Given the description of an element on the screen output the (x, y) to click on. 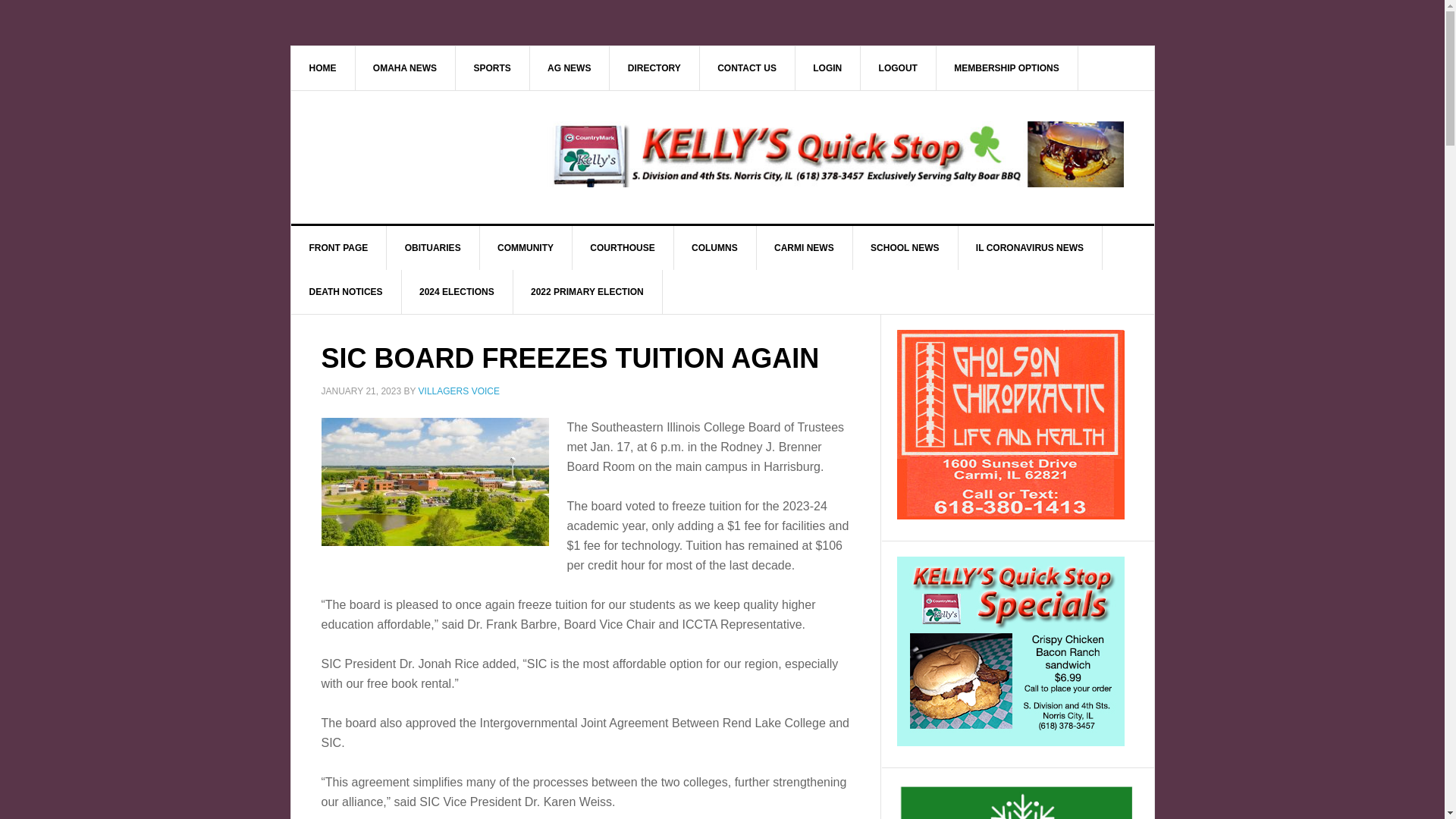
HOME (323, 67)
SPORTS (491, 67)
COLUMNS (714, 248)
THE VILLAGERS VOICE (419, 155)
MEMBERSHIP OPTIONS (1006, 67)
OMAHA NEWS (405, 67)
CONTACT US (746, 67)
LOGOUT (898, 67)
DIRECTORY (655, 67)
AG NEWS (569, 67)
LOGIN (827, 67)
FRONT PAGE (339, 248)
OBITUARIES (433, 248)
COMMUNITY (525, 248)
COURTHOUSE (622, 248)
